Given the description of an element on the screen output the (x, y) to click on. 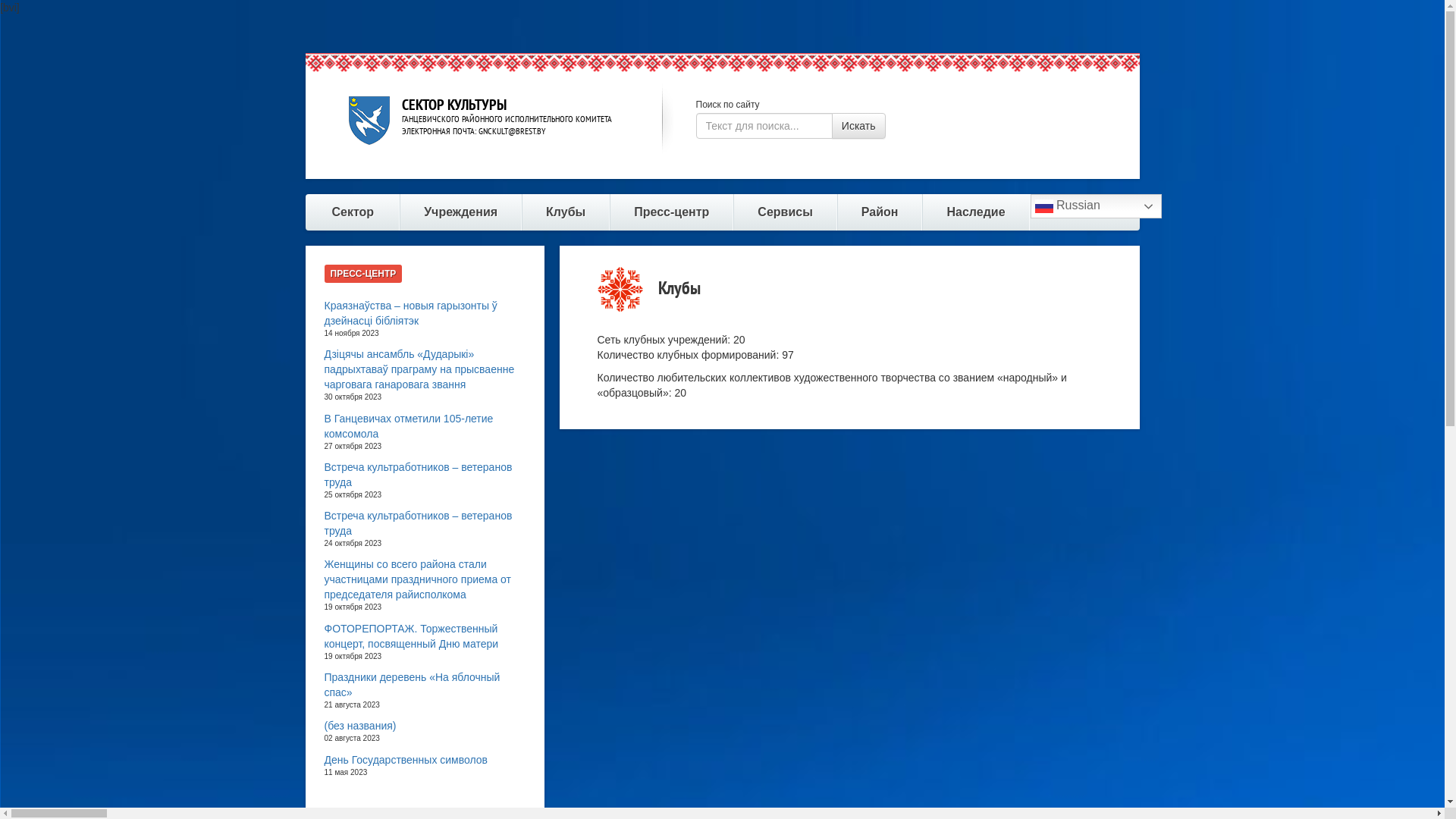
Russian Element type: text (1095, 206)
